Given the description of an element on the screen output the (x, y) to click on. 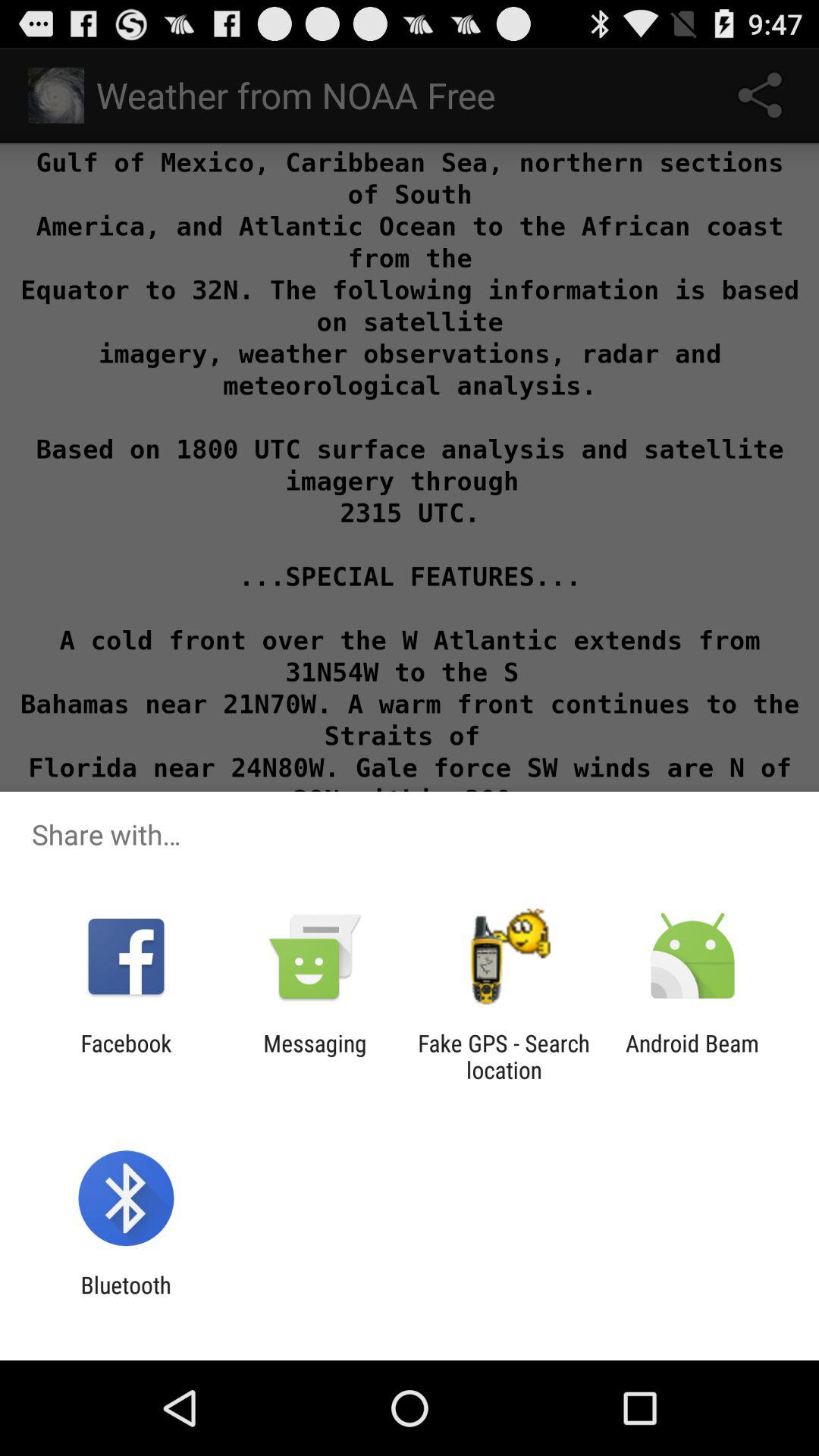
launch app to the left of the fake gps search item (314, 1056)
